Given the description of an element on the screen output the (x, y) to click on. 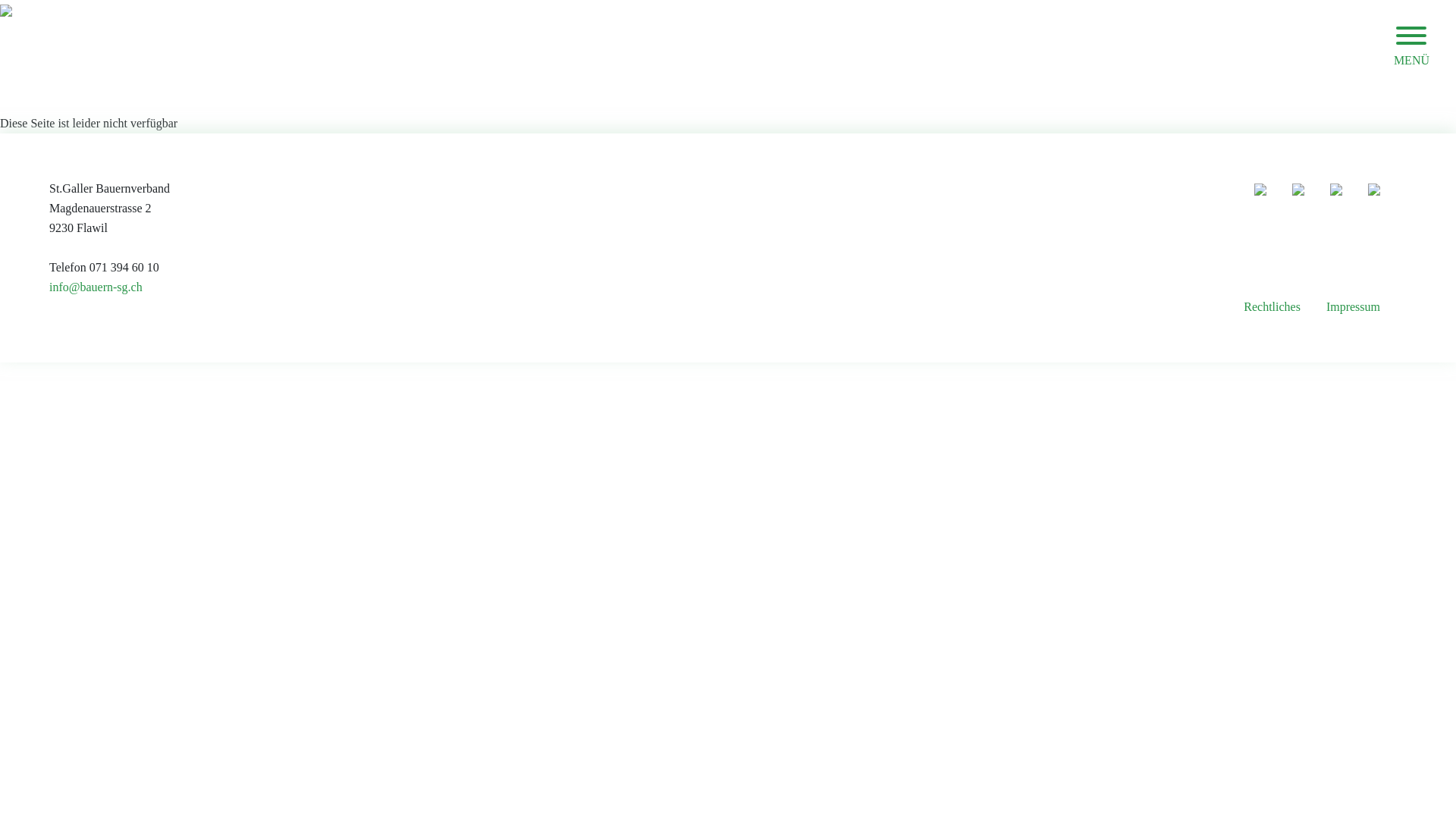
Impressum Element type: text (1353, 306)
Rechtliches Element type: text (1271, 306)
info@bauern-sg.ch Element type: text (95, 296)
